Given the description of an element on the screen output the (x, y) to click on. 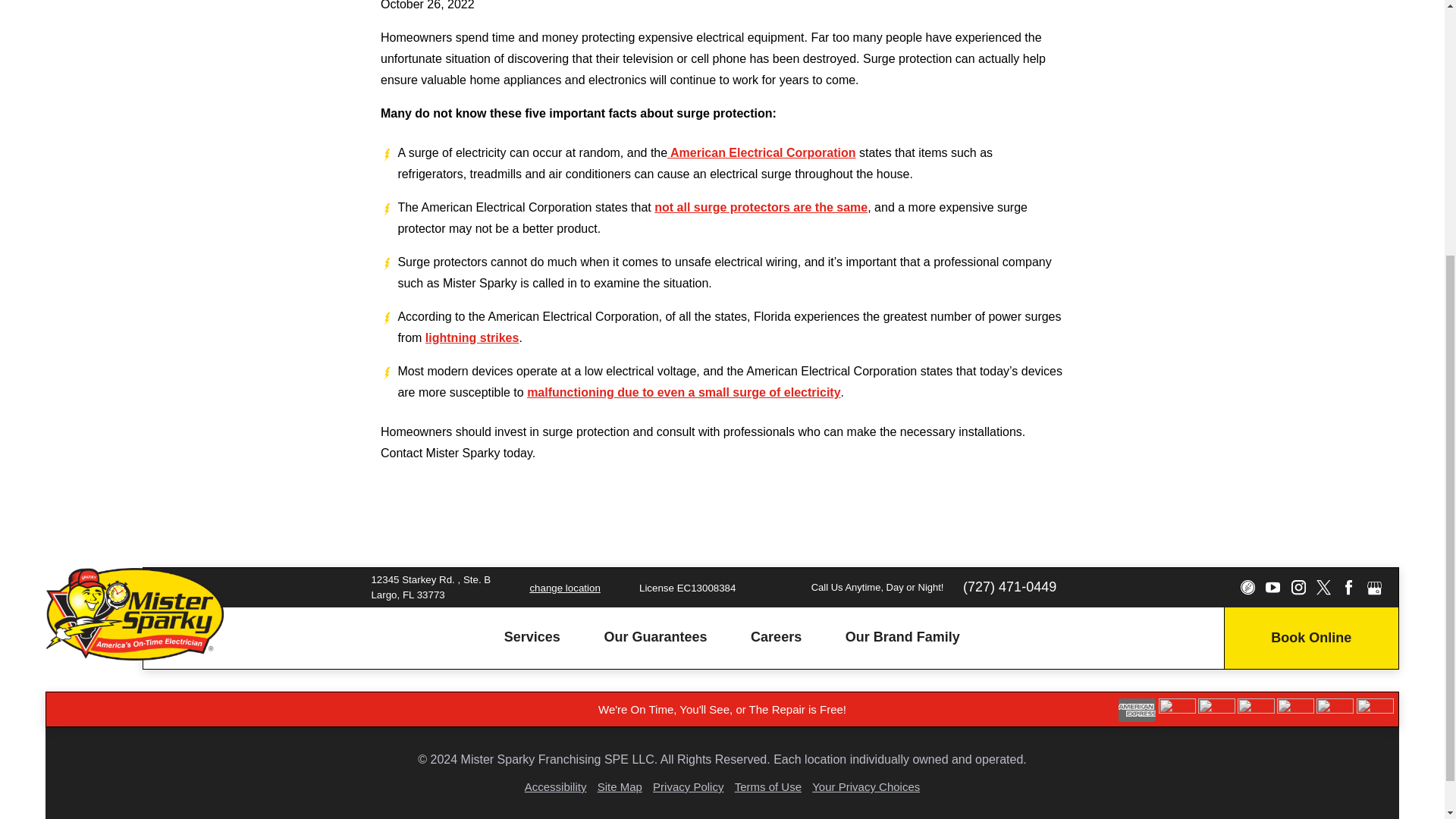
Twitter (1323, 586)
Google My Business (1374, 586)
Facebook (1347, 586)
YouTube (1272, 586)
CareerPlug (1247, 586)
Instagram (1297, 586)
